Given the description of an element on the screen output the (x, y) to click on. 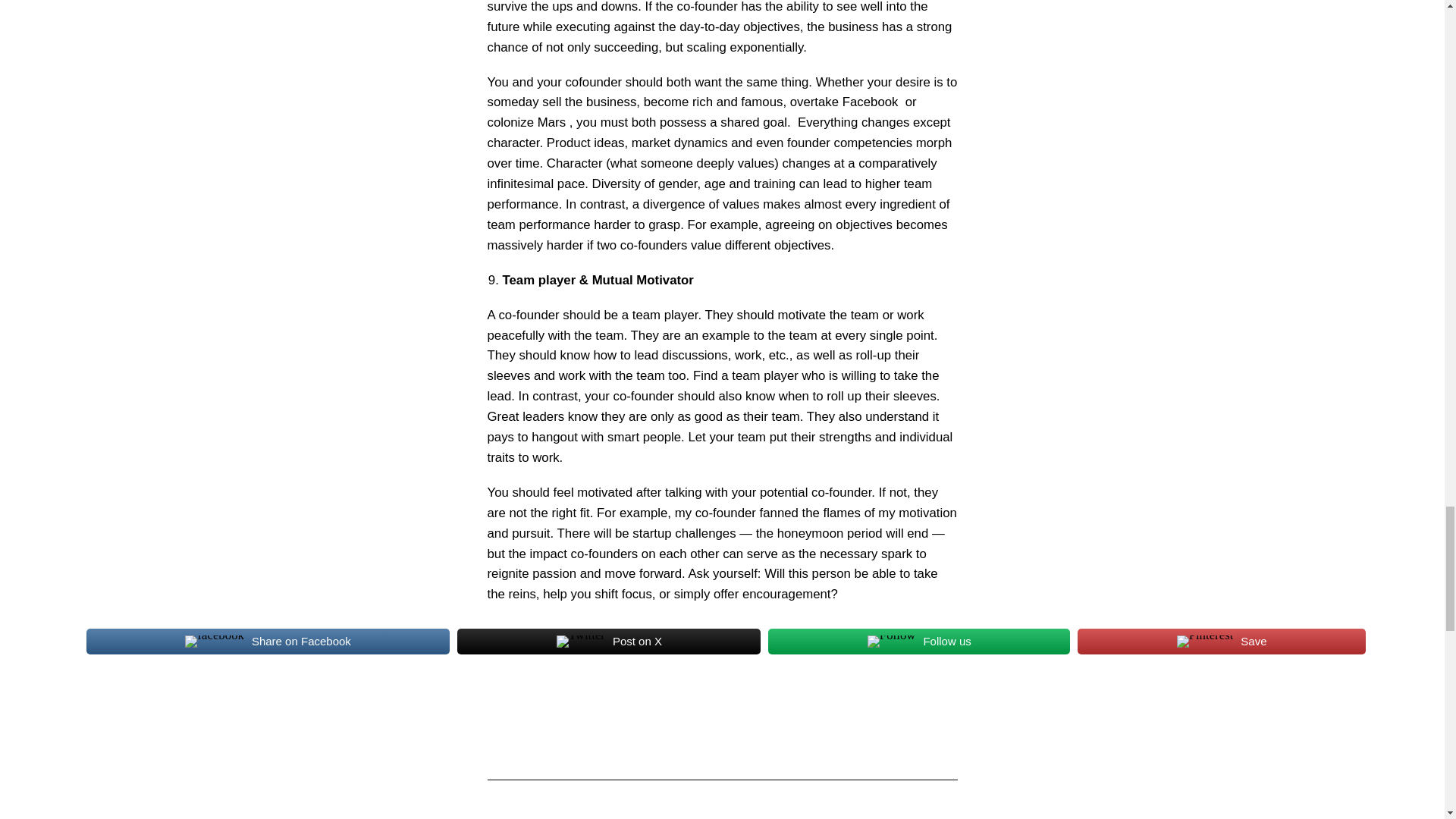
Share on Facebook (267, 641)
Save (1221, 641)
Follow us (919, 641)
Post on X (608, 641)
